Given the description of an element on the screen output the (x, y) to click on. 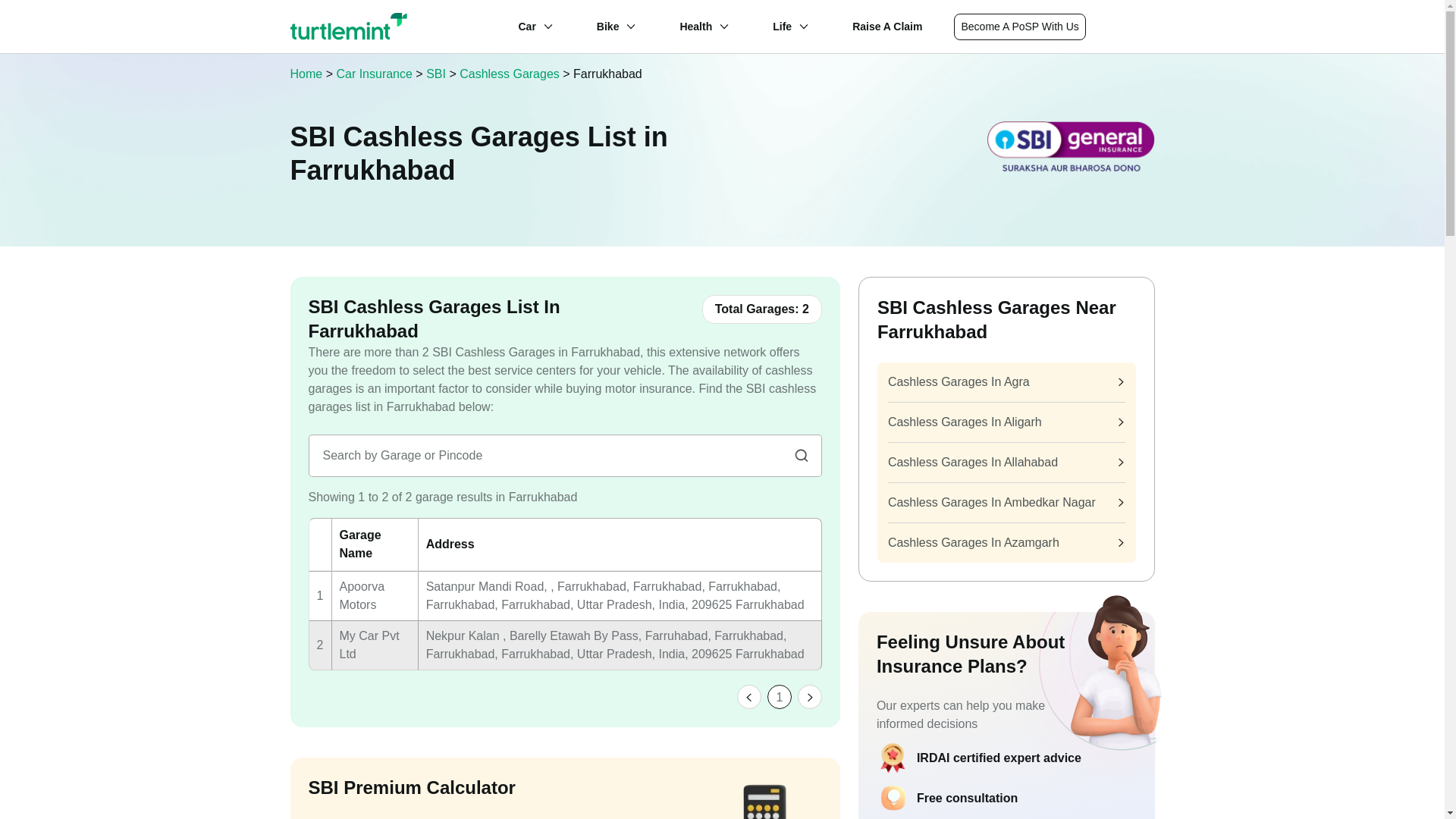
Bike (608, 26)
Turtlemint Logo (348, 26)
